Given the description of an element on the screen output the (x, y) to click on. 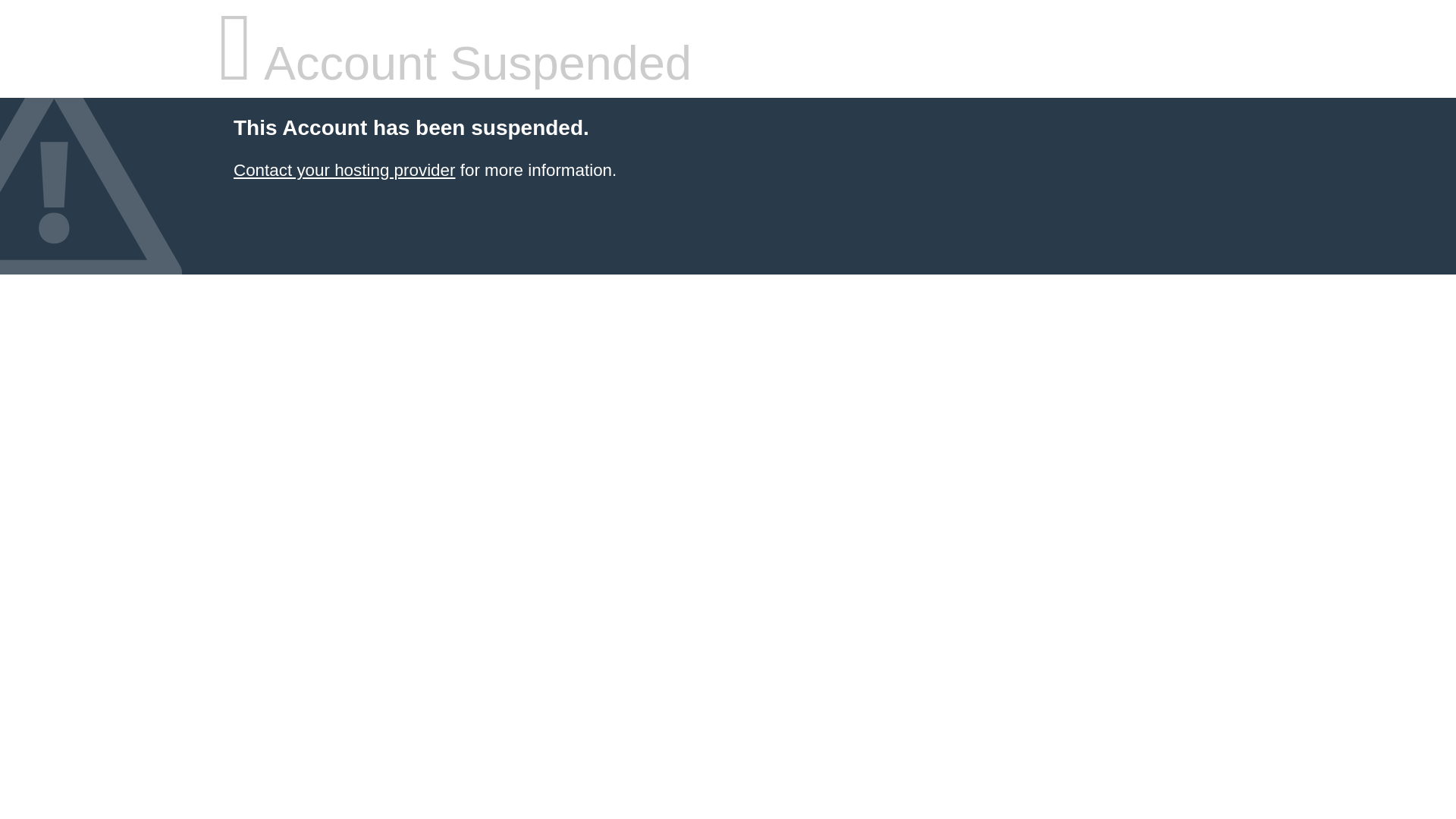
Contact your hosting provider (343, 169)
